Given the description of an element on the screen output the (x, y) to click on. 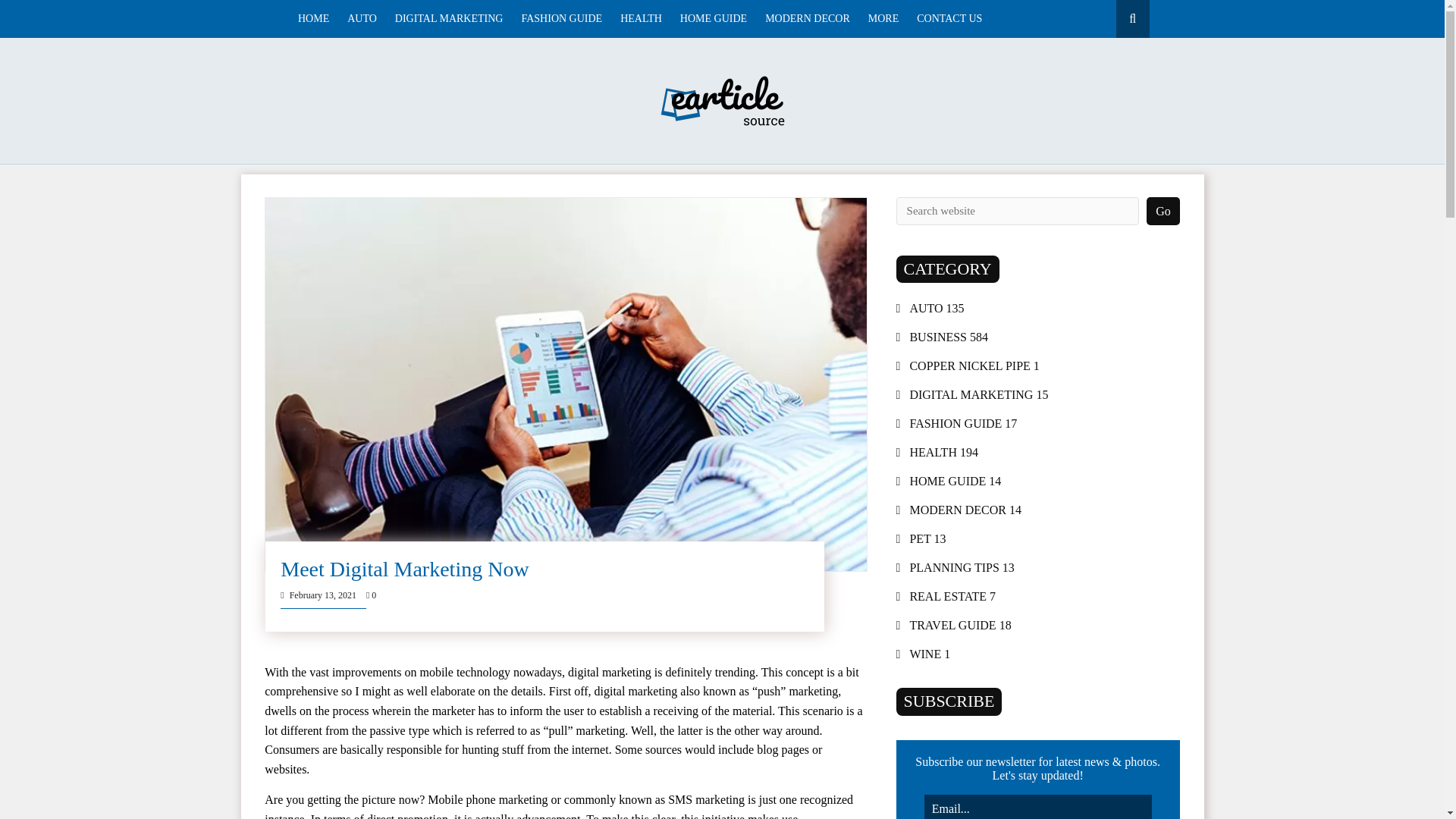
MODERN DECOR (807, 18)
DIGITAL MARKETING (448, 18)
Meet Digital Marketing Now (404, 568)
HEALTH (641, 18)
HOME GUIDE (712, 18)
CONTACT US (949, 18)
FASHION GUIDE (561, 18)
Go (1163, 211)
